Given the description of an element on the screen output the (x, y) to click on. 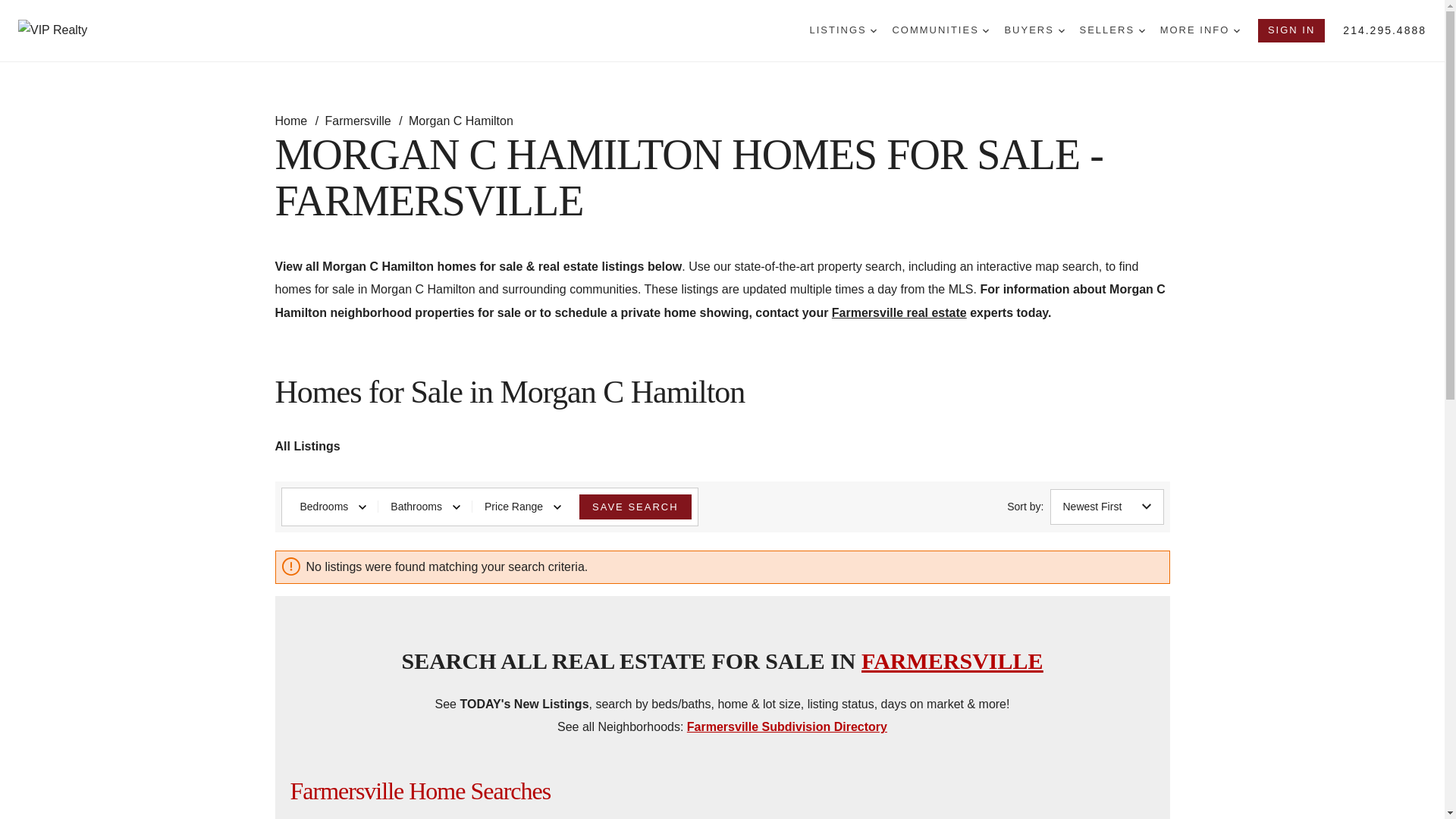
MORE INFO DROPDOWN ARROW (1200, 30)
COMMUNITIES DROPDOWN ARROW (939, 30)
LISTINGS DROPDOWN ARROW (843, 30)
DROPDOWN ARROW (985, 30)
DROPDOWN ARROW (1236, 30)
DROPDOWN ARROW (873, 30)
BUYERS DROPDOWN ARROW (1034, 30)
SELLERS DROPDOWN ARROW (1112, 30)
DROPDOWN ARROW (1141, 30)
DROPDOWN ARROW (1061, 30)
